Given the description of an element on the screen output the (x, y) to click on. 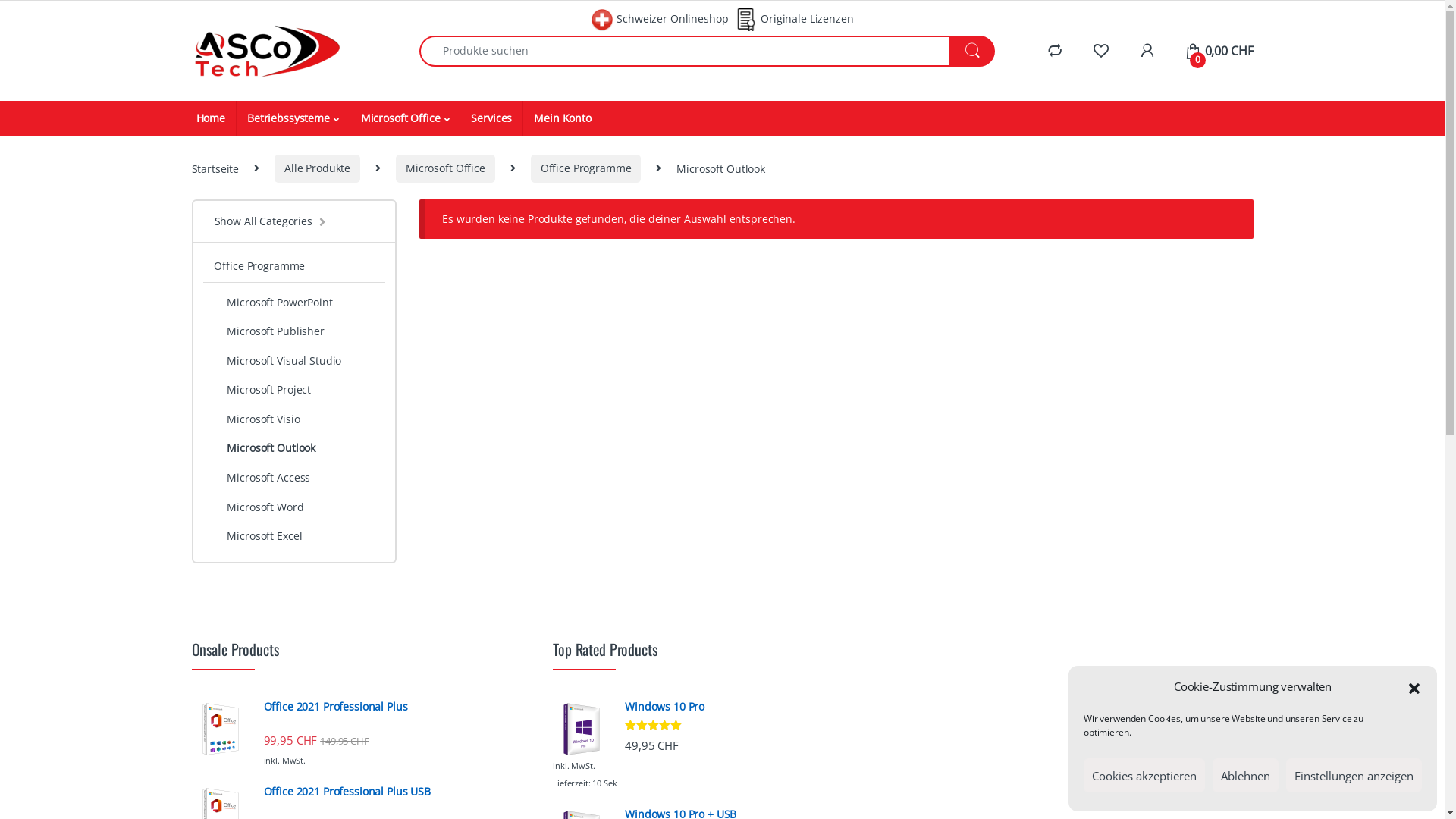
Office 2021 Professional Plus USB Element type: text (360, 791)
Windows 10 Pro Element type: text (721, 706)
Microsoft Visio Element type: text (294, 420)
Microsoft Project Element type: text (294, 391)
Microsoft Outlook Element type: text (294, 449)
Microsoft PowerPoint Element type: text (294, 300)
Microsoft Access Element type: text (294, 478)
Microsoft Publisher Element type: text (294, 333)
Services Element type: text (490, 117)
Microsoft Word Element type: text (294, 508)
Microsoft Office Element type: text (404, 117)
Ablehnen Element type: text (1245, 775)
Office Programme Element type: text (585, 168)
Microsoft Office Element type: text (445, 168)
Betriebssysteme Element type: text (292, 117)
Startseite Element type: text (214, 167)
Microsoft Visual Studio Element type: text (294, 361)
Mein Konto Element type: text (562, 117)
Microsoft Excel Element type: text (294, 537)
Office Programme Element type: text (254, 267)
Cookies akzeptieren Element type: text (1143, 775)
Einstellungen anzeigen Element type: text (1353, 775)
0
0,00 CHF Element type: text (1218, 50)
Home Element type: text (210, 117)
Alle Produkte Element type: text (317, 168)
Office 2021 Professional Plus Element type: text (360, 706)
